Given the description of an element on the screen output the (x, y) to click on. 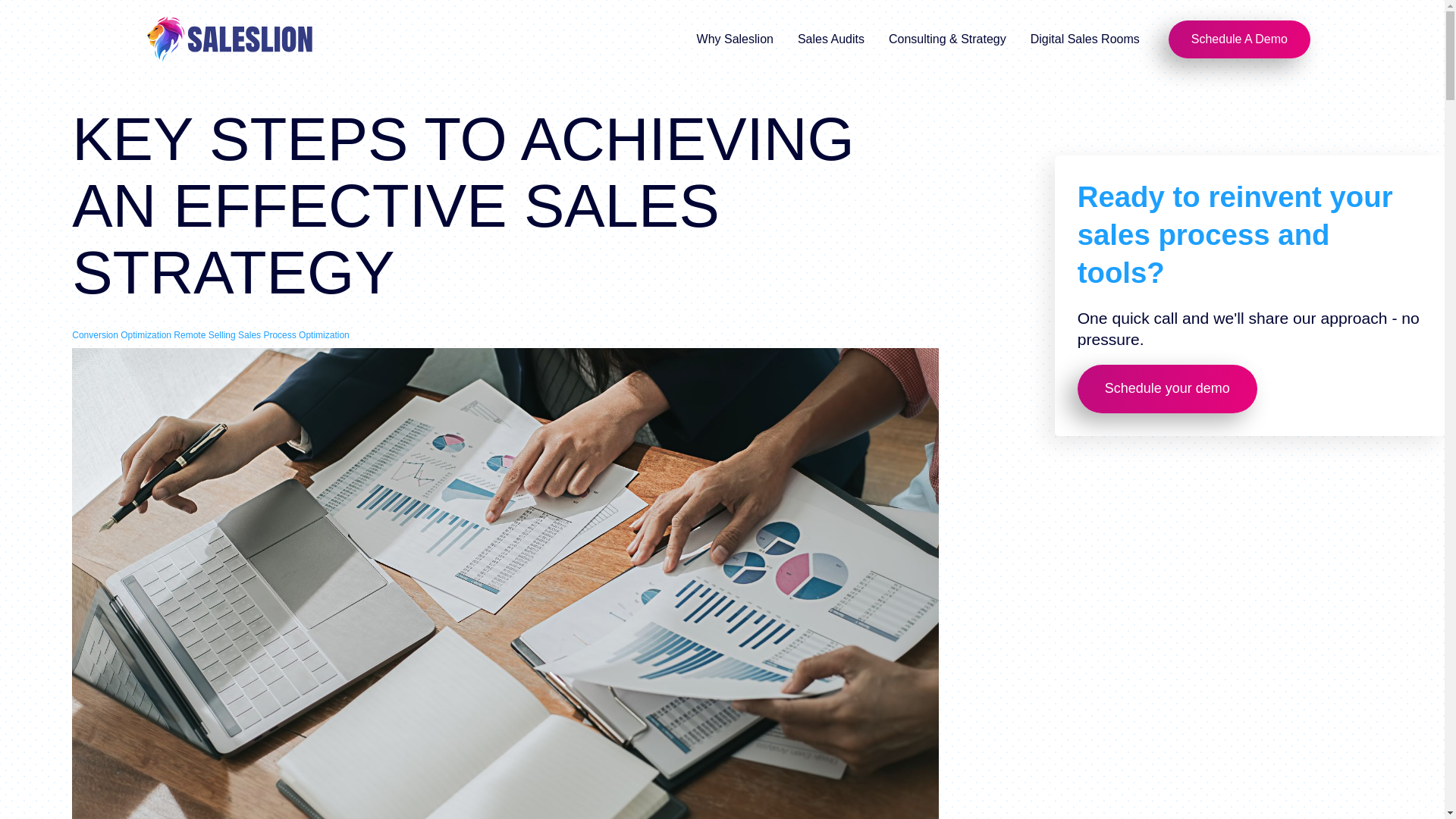
Why Saleslion (736, 39)
Sales Process Optimization (293, 335)
Digital Sales Rooms (1086, 39)
Conversion Optimization (121, 335)
Schedule your demo (1167, 388)
Schedule A Demo (1239, 39)
Remote Selling (203, 335)
Sales Audits (832, 39)
